Given the description of an element on the screen output the (x, y) to click on. 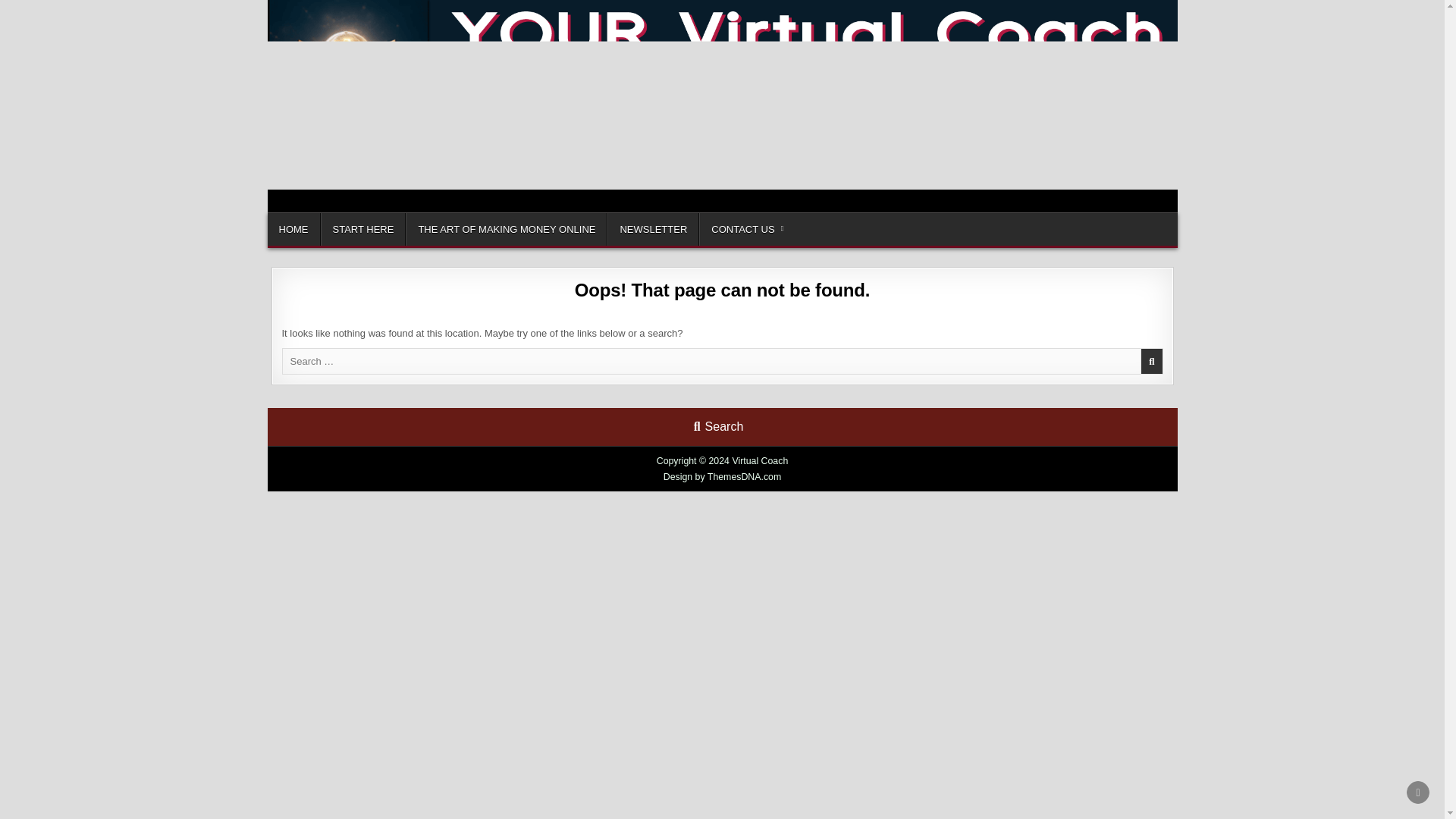
Search (718, 426)
HOME (293, 228)
Virtual Coach (328, 209)
Design by ThemesDNA.com (722, 476)
THE ART OF MAKING MONEY ONLINE (506, 228)
NEWSLETTER (652, 228)
CONTACT US (746, 228)
START HERE (363, 228)
